Given the description of an element on the screen output the (x, y) to click on. 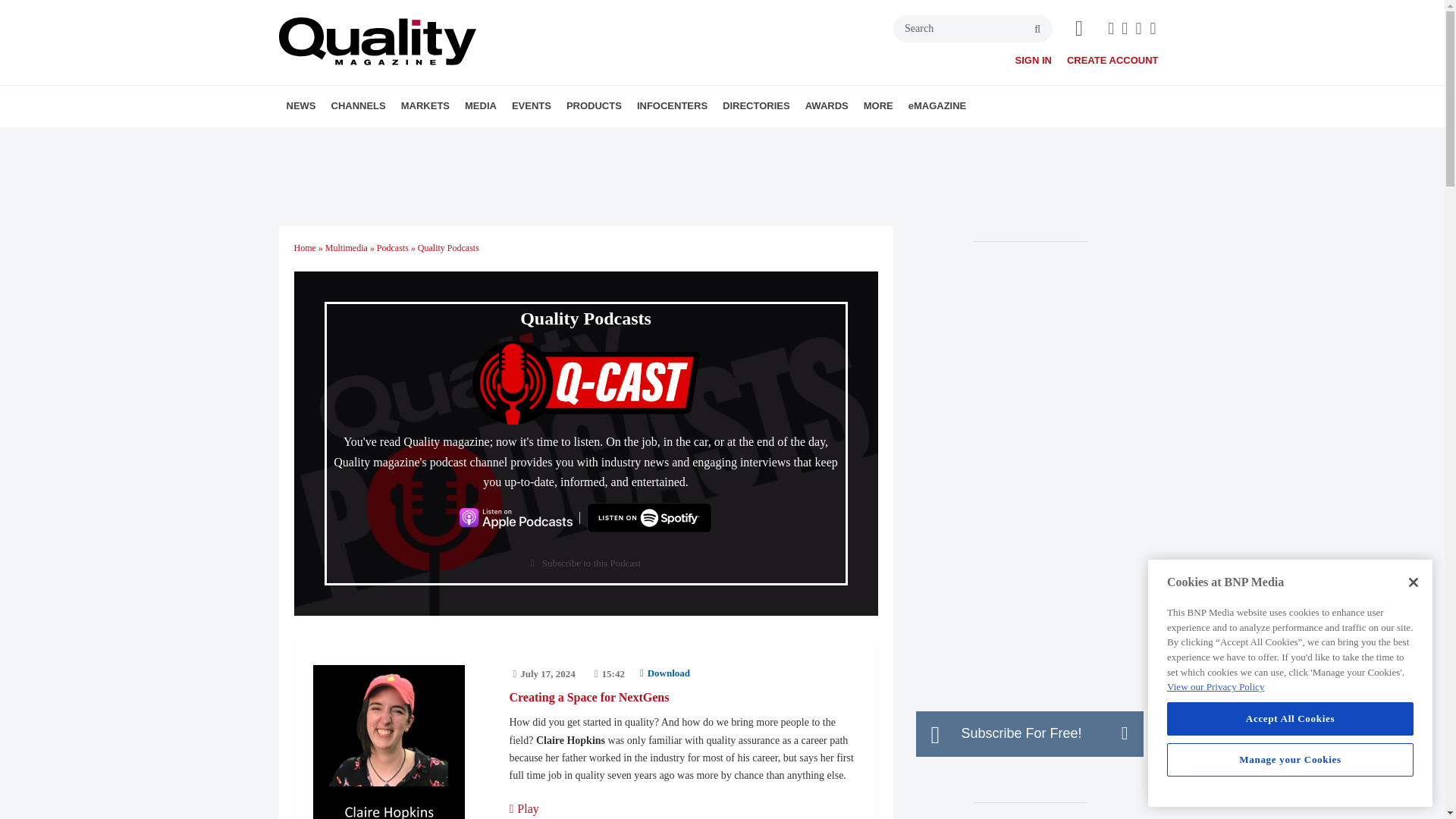
Search (972, 28)
Search (972, 28)
